Given the description of an element on the screen output the (x, y) to click on. 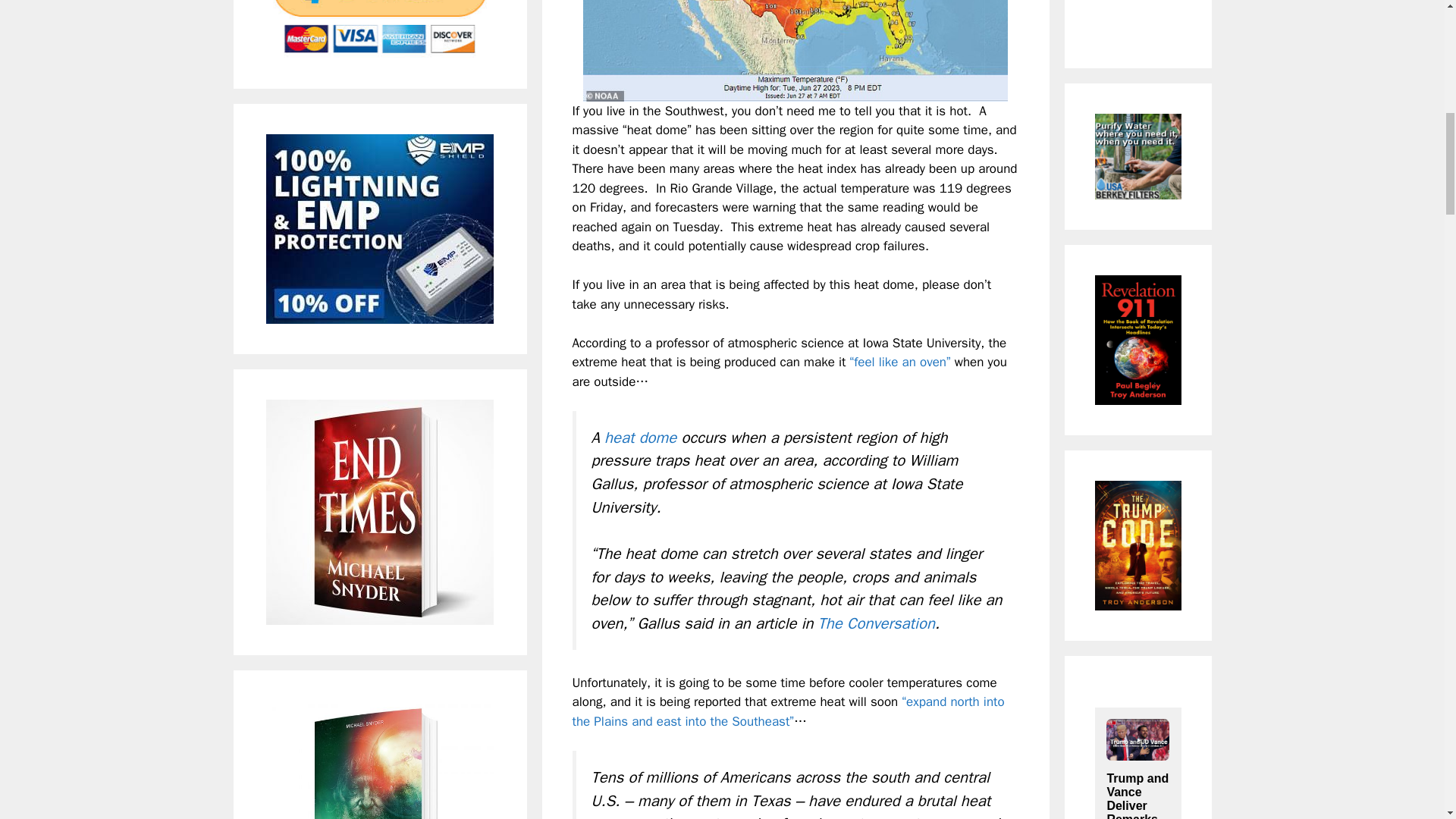
The Conversation (876, 623)
heat dome (640, 437)
The Conversation (876, 623)
heat dome (640, 437)
